Given the description of an element on the screen output the (x, y) to click on. 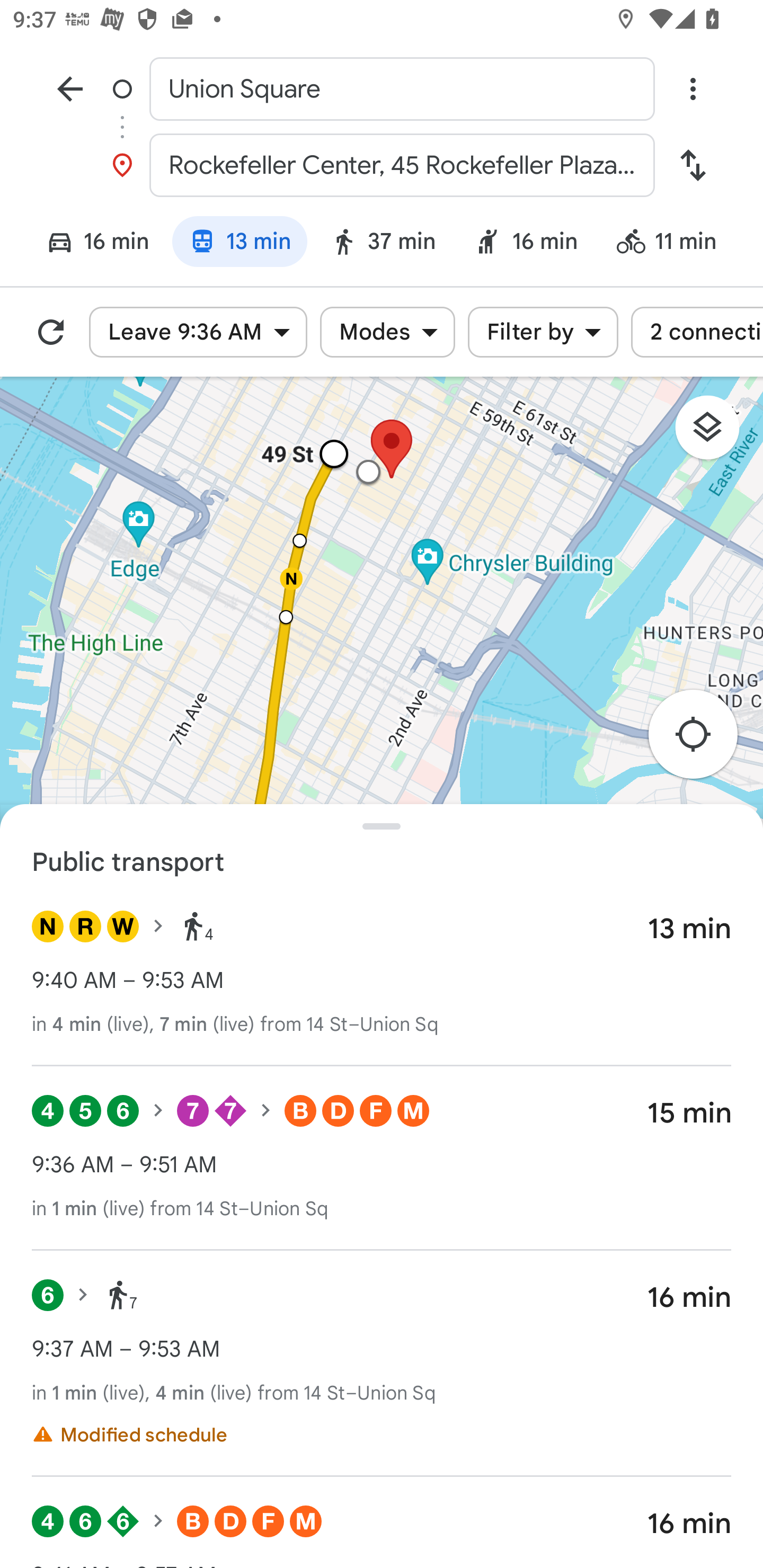
Navigate up (70, 88)
Union Square Start location, Union Square (381, 88)
Overflow menu (692, 88)
Swap start and destination (692, 165)
Driving mode: 16 min 16 min (89, 244)
Walking mode: 37 min 37 min (382, 244)
Ride service: 16 min 16 min (526, 244)
Bicycling mode: 11 min 11 min (674, 244)
Refresh (50, 332)
Leave 9:36 AM Leave 9:36 AM Leave 9:36 AM (198, 332)
Modes Modes Modes (387, 332)
Filter by Filter by Filter by (542, 332)
Layers (716, 433)
Re-center map to your location (702, 739)
